Given the description of an element on the screen output the (x, y) to click on. 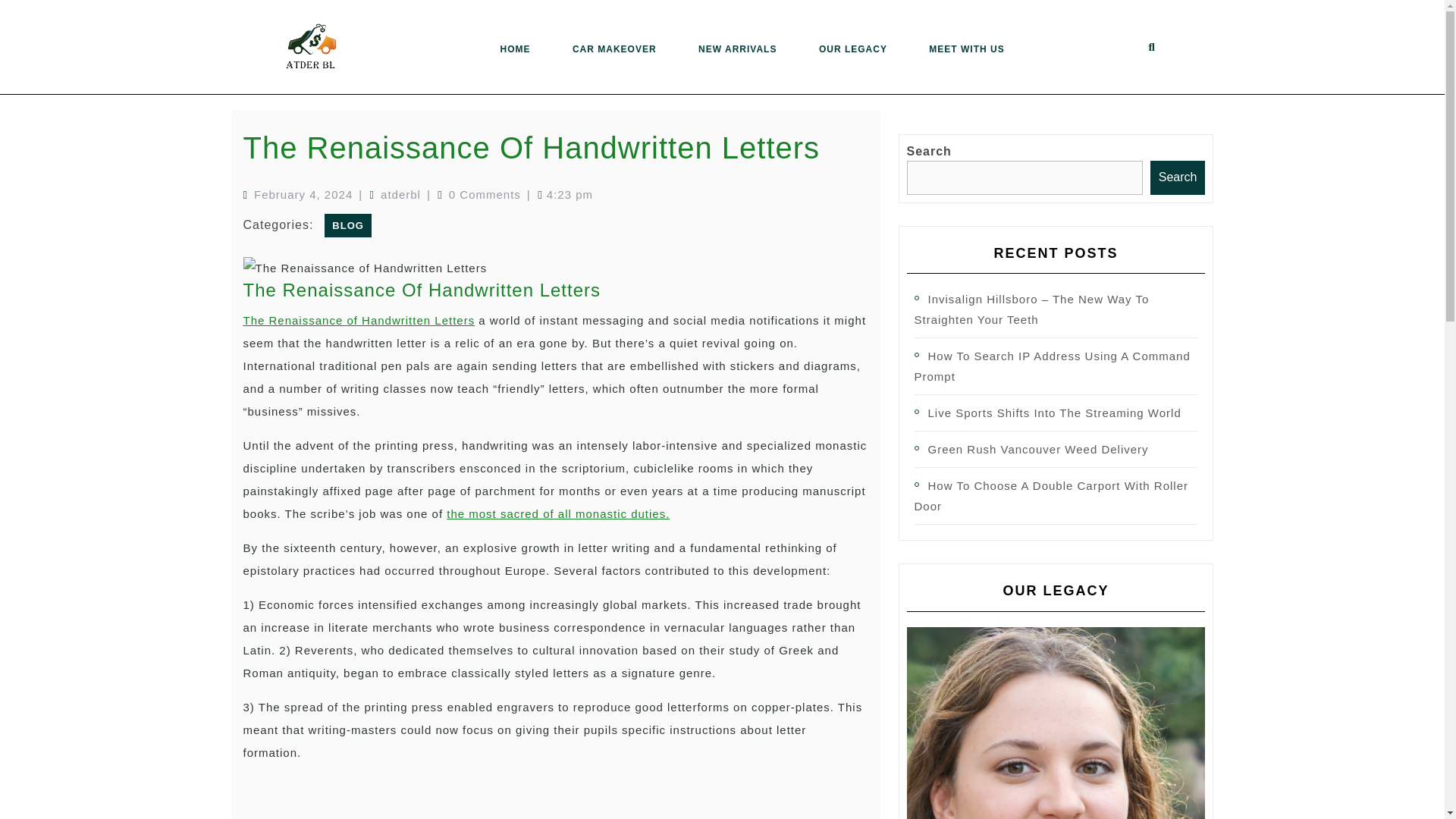
How To Choose A Double Carport With Roller Door (1051, 495)
Search (1158, 77)
NEW ARRIVALS (736, 48)
HOME (514, 48)
Search (1177, 177)
OUR LEGACY (852, 48)
February 4, 2024 (302, 194)
The Renaissance of Handwritten Letters (358, 319)
MEET WITH US (966, 48)
the most sacred of all monastic duties. (557, 513)
CAR MAKEOVER (614, 48)
Green Rush Vancouver Weed Delivery (1038, 448)
Live Sports Shifts Into The Streaming World (1054, 412)
atderbl (400, 194)
BLOG (347, 225)
